Given the description of an element on the screen output the (x, y) to click on. 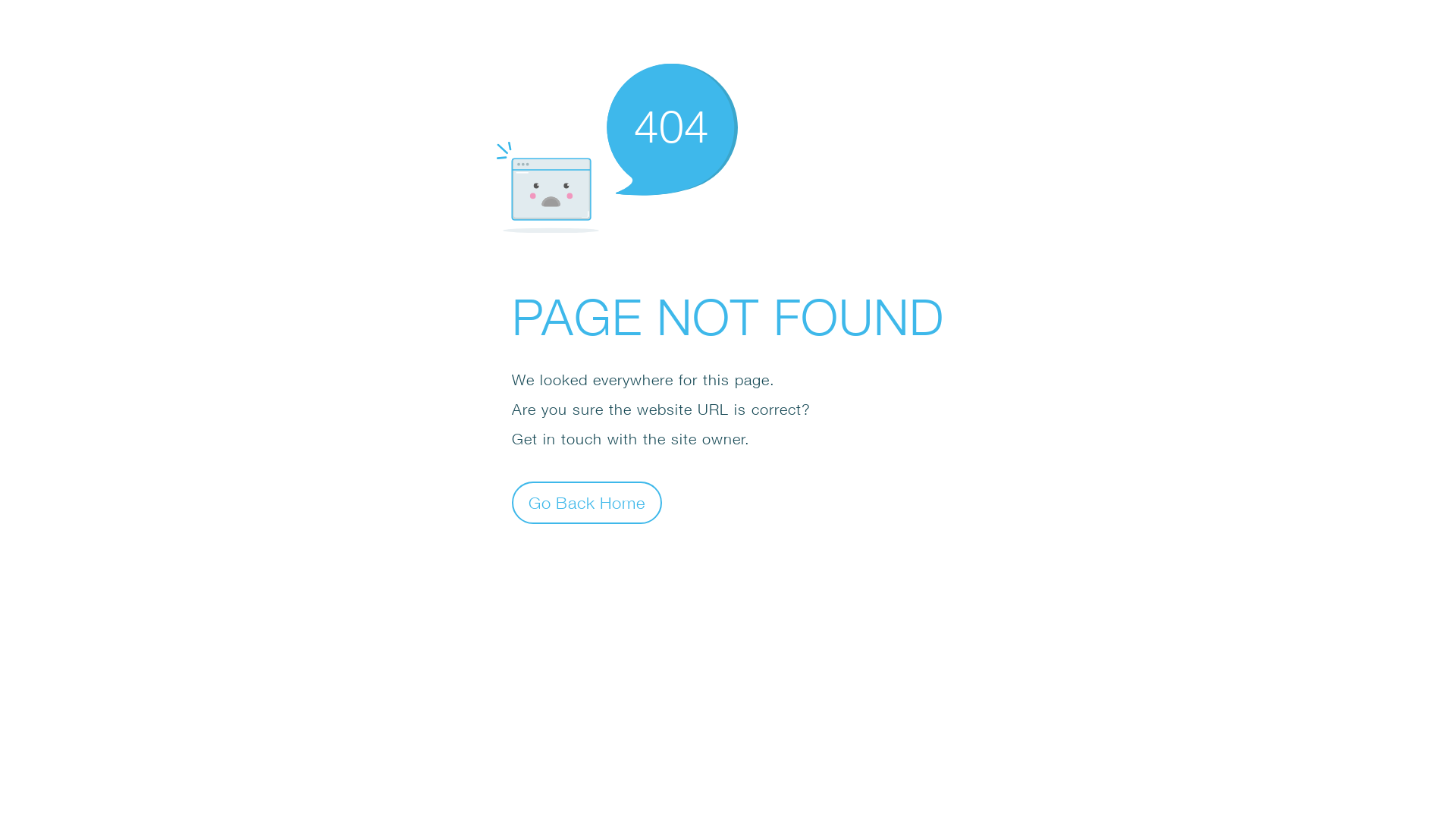
Go Back Home Element type: text (586, 502)
